Given the description of an element on the screen output the (x, y) to click on. 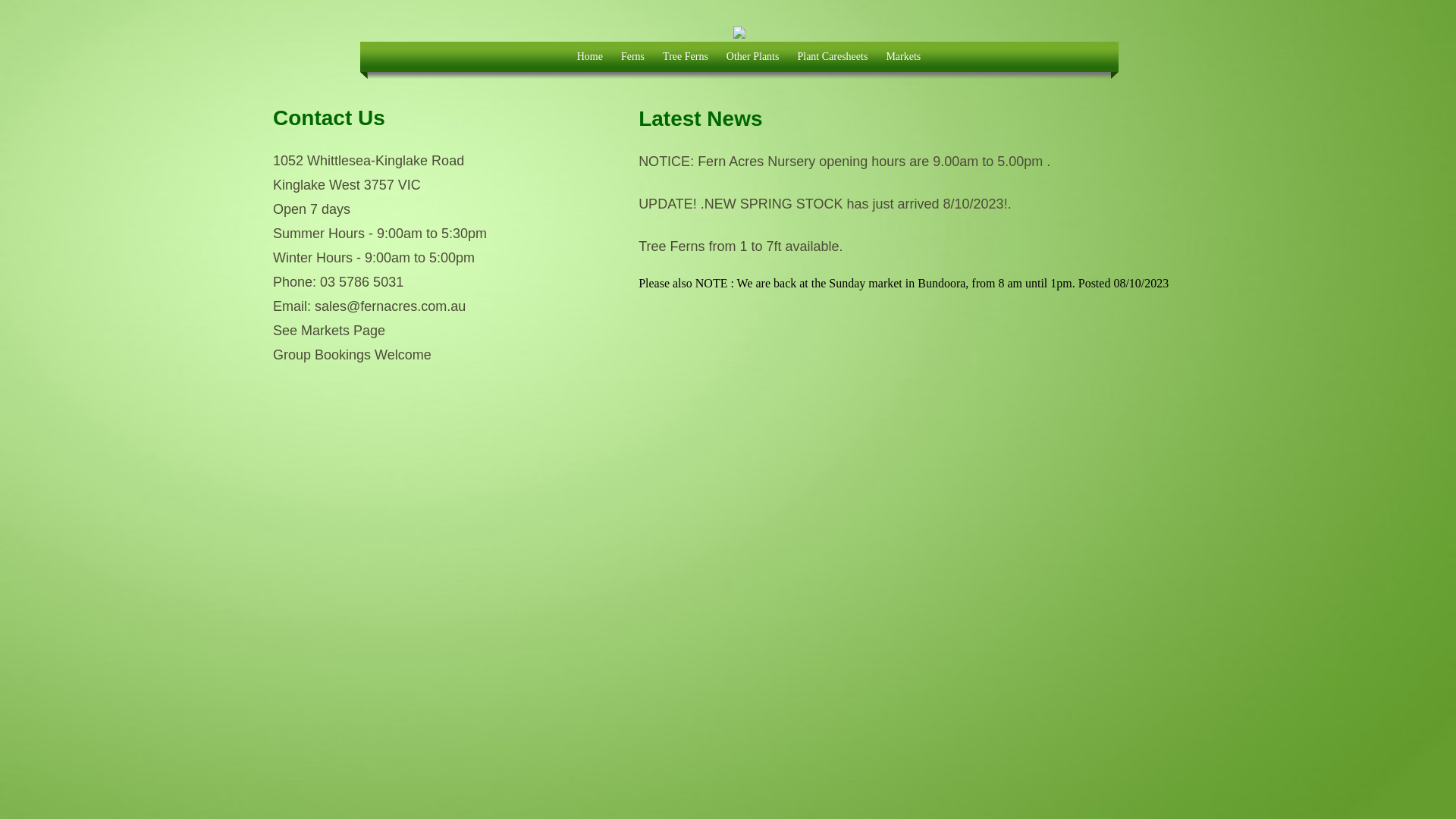
Markets Element type: text (903, 60)
Other Plants Element type: text (752, 60)
Ferns Element type: text (632, 60)
Plant Caresheets Element type: text (832, 60)
Tree Ferns Element type: text (685, 60)
Home Element type: text (580, 60)
